Given the description of an element on the screen output the (x, y) to click on. 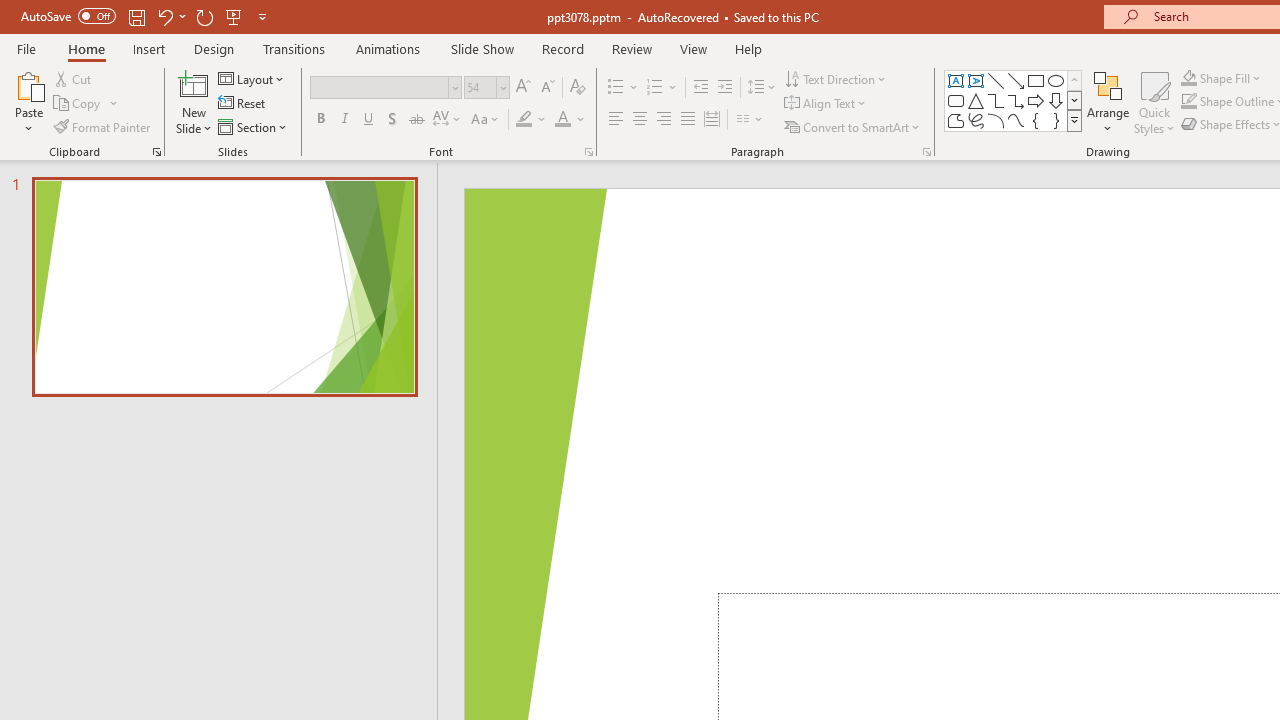
Arrow: Down (1055, 100)
New Slide (193, 102)
Redo (204, 15)
Font Size (480, 87)
Font (385, 87)
Cut (73, 78)
Right Brace (1055, 120)
Line Spacing (762, 87)
Insert (149, 48)
Columns (750, 119)
Clear Formatting (577, 87)
Design (214, 48)
Quick Access Toolbar (145, 16)
Home (86, 48)
Connector: Elbow (995, 100)
